Given the description of an element on the screen output the (x, y) to click on. 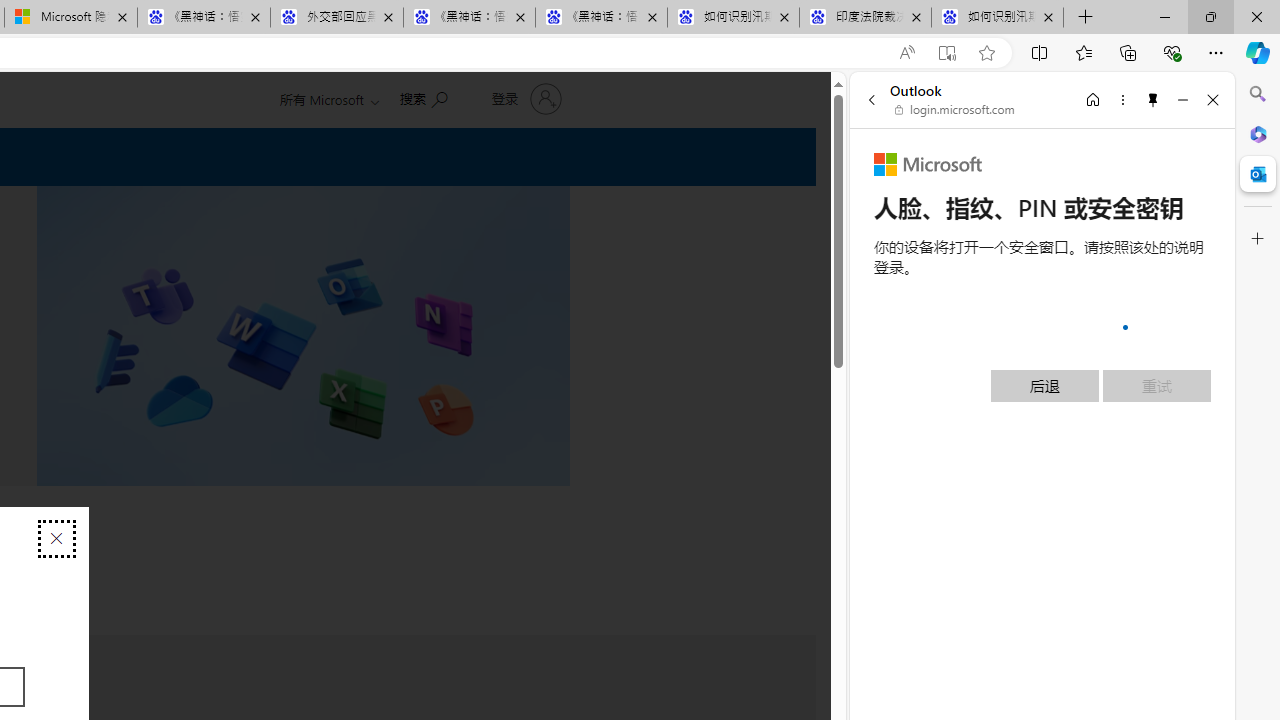
Unpin side pane (1153, 99)
Microsoft (927, 164)
Enter Immersive Reader (F9) (946, 53)
